Given the description of an element on the screen output the (x, y) to click on. 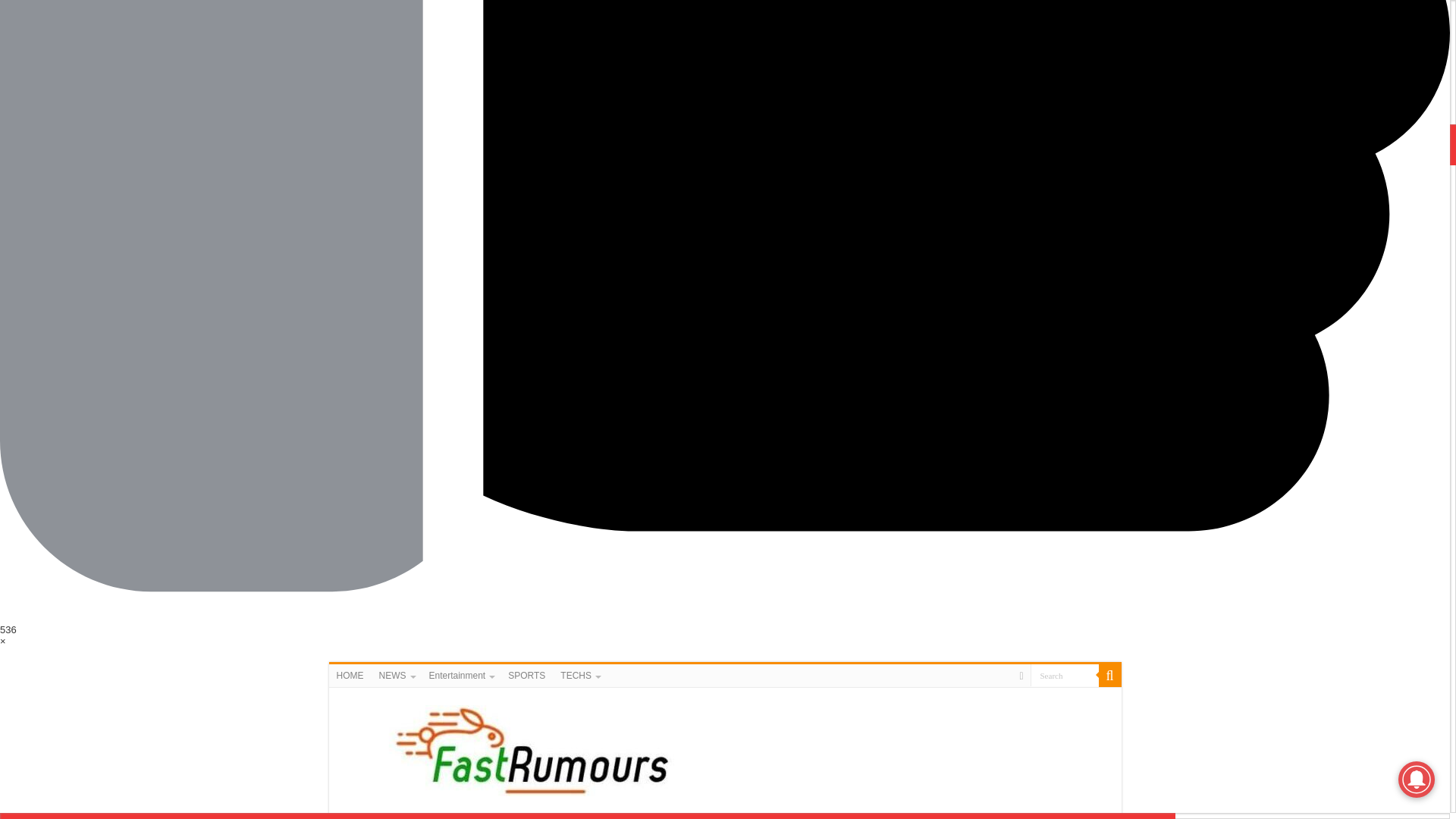
TECHS (580, 675)
Search (1063, 675)
Entertainment (472, 816)
Search (1063, 675)
Search (1109, 675)
TECHS (601, 816)
SPORTS (543, 816)
HOME (355, 816)
HOME (350, 675)
NEWS (396, 675)
Rss (1021, 676)
Search (1063, 675)
SPORTS (526, 675)
Entertainment (461, 675)
